Given the description of an element on the screen output the (x, y) to click on. 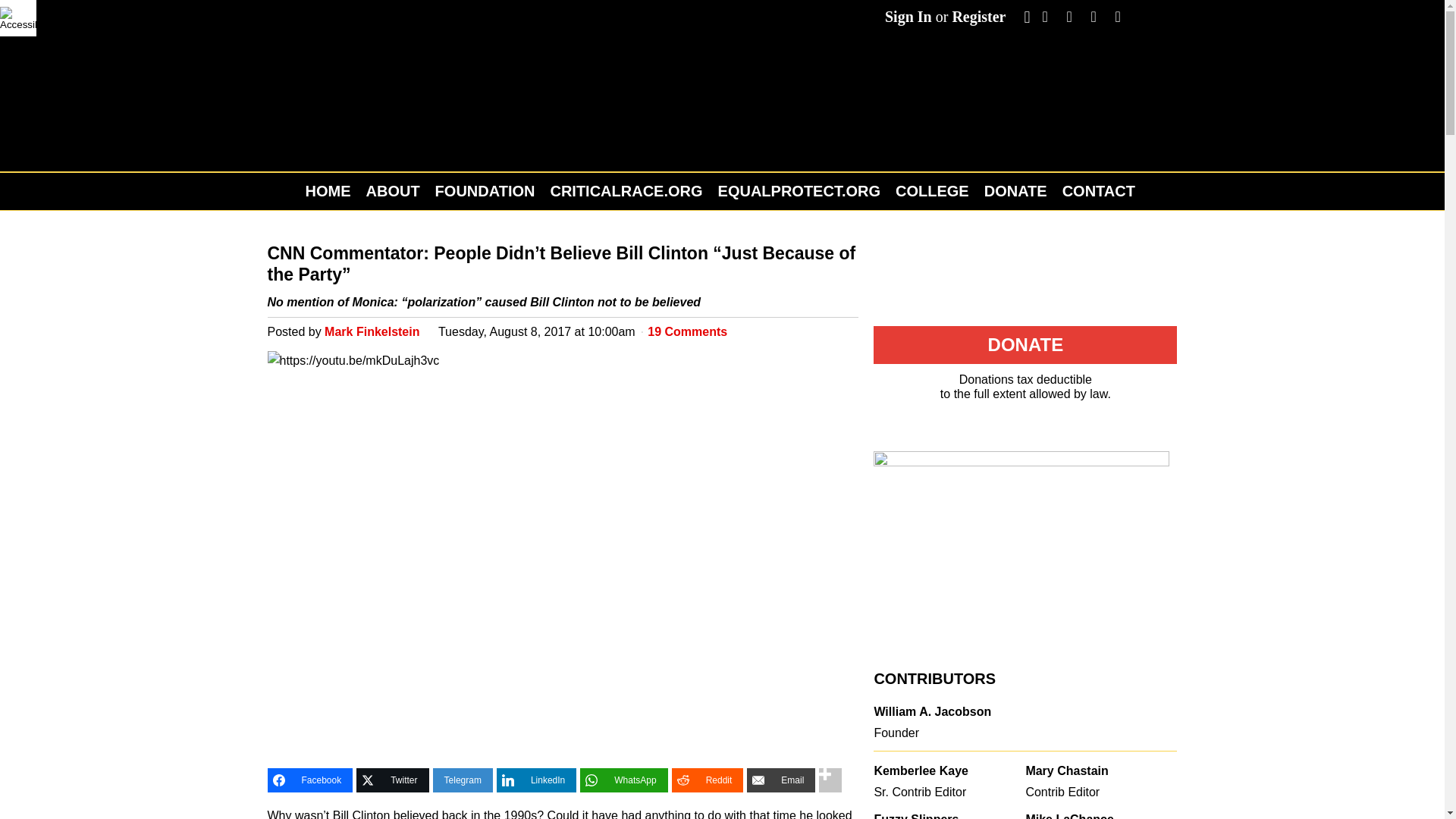
EQUALPROTECT.ORG (799, 190)
CRITICALRACE.ORG (625, 190)
Telegram (462, 780)
Share on Twitter (392, 780)
Share on More (829, 780)
Reddit (707, 780)
Email (780, 780)
19 Comments (686, 331)
Share on Email (780, 780)
Twitter (392, 780)
Facebook (309, 780)
CONTACT (1098, 190)
HOME (331, 190)
Mark Finkelstein (371, 331)
DONATE (1015, 190)
